Given the description of an element on the screen output the (x, y) to click on. 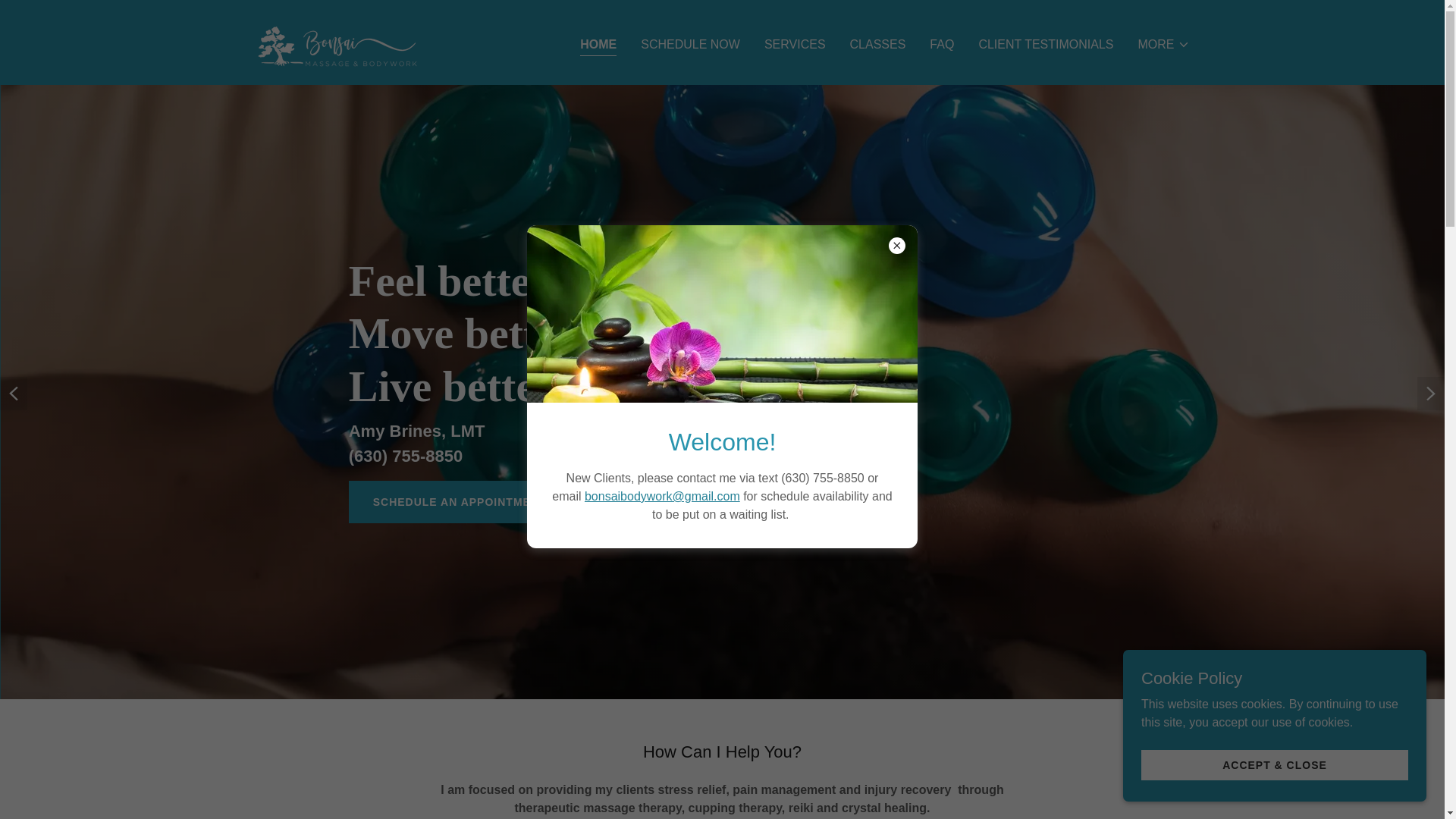
SCHEDULE AN APPOINTMENT (459, 501)
CLIENT TESTIMONIALS (1046, 43)
SCHEDULE NOW (690, 43)
HOME (597, 45)
MORE (1163, 44)
CLASSES (878, 43)
FAQ (941, 43)
SERVICES (794, 43)
